Given the description of an element on the screen output the (x, y) to click on. 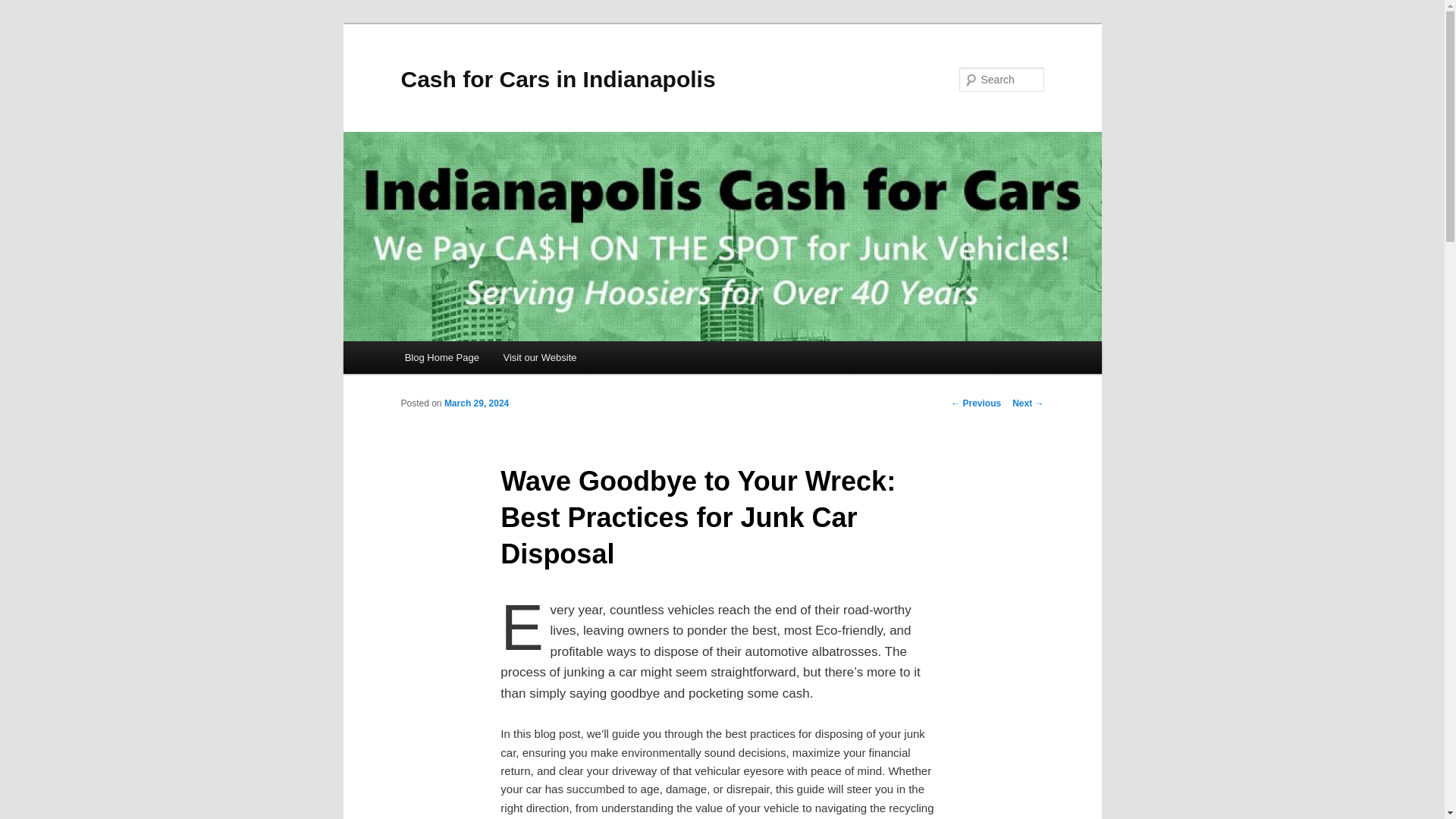
Search (24, 8)
Visit our Website (540, 357)
March 29, 2024 (476, 403)
Cash for Cars in Indianapolis (557, 78)
Blog Home Page (442, 357)
9:02 pm (476, 403)
